Given the description of an element on the screen output the (x, y) to click on. 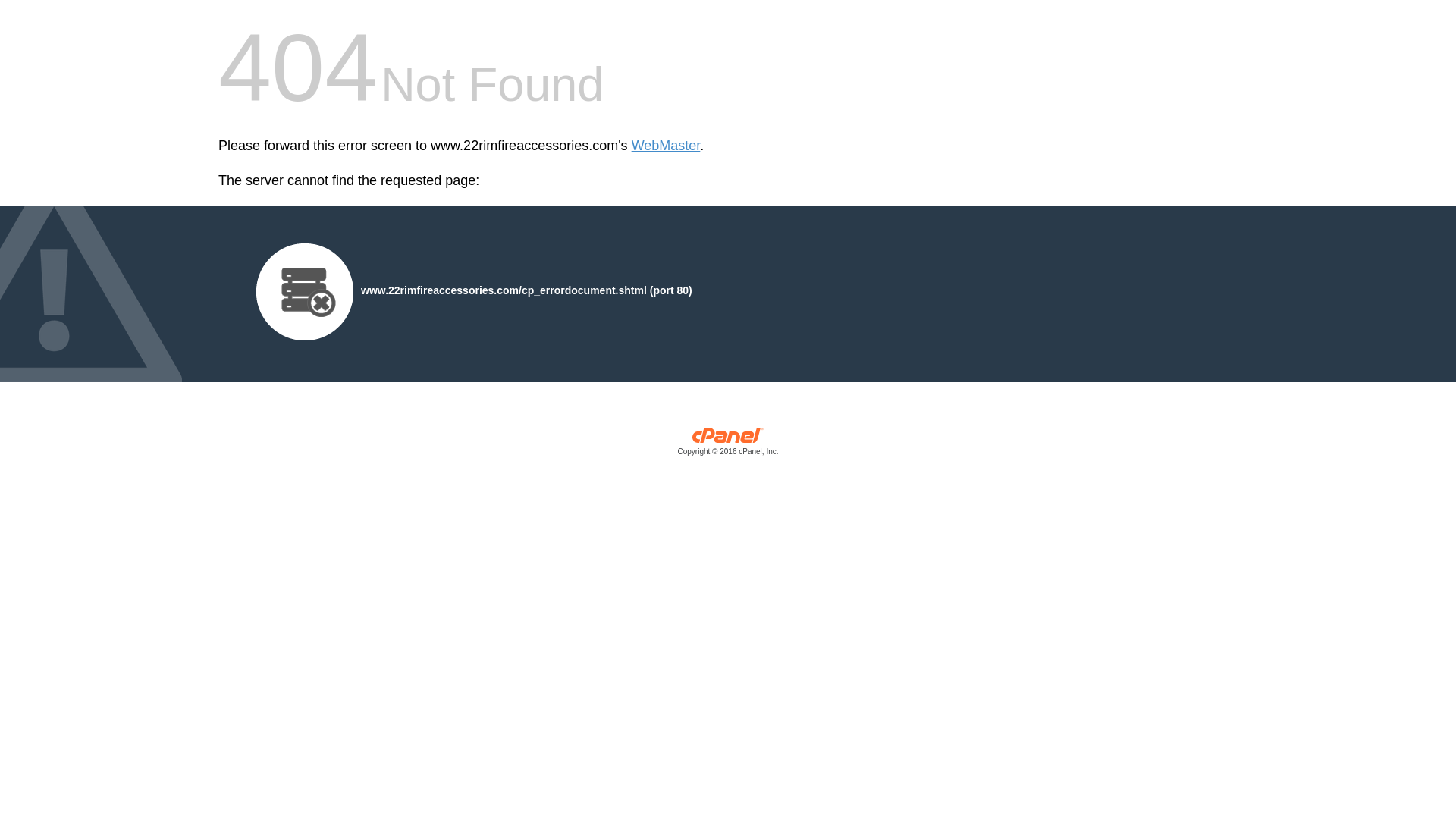
WebMaster Element type: text (665, 145)
